Given the description of an element on the screen output the (x, y) to click on. 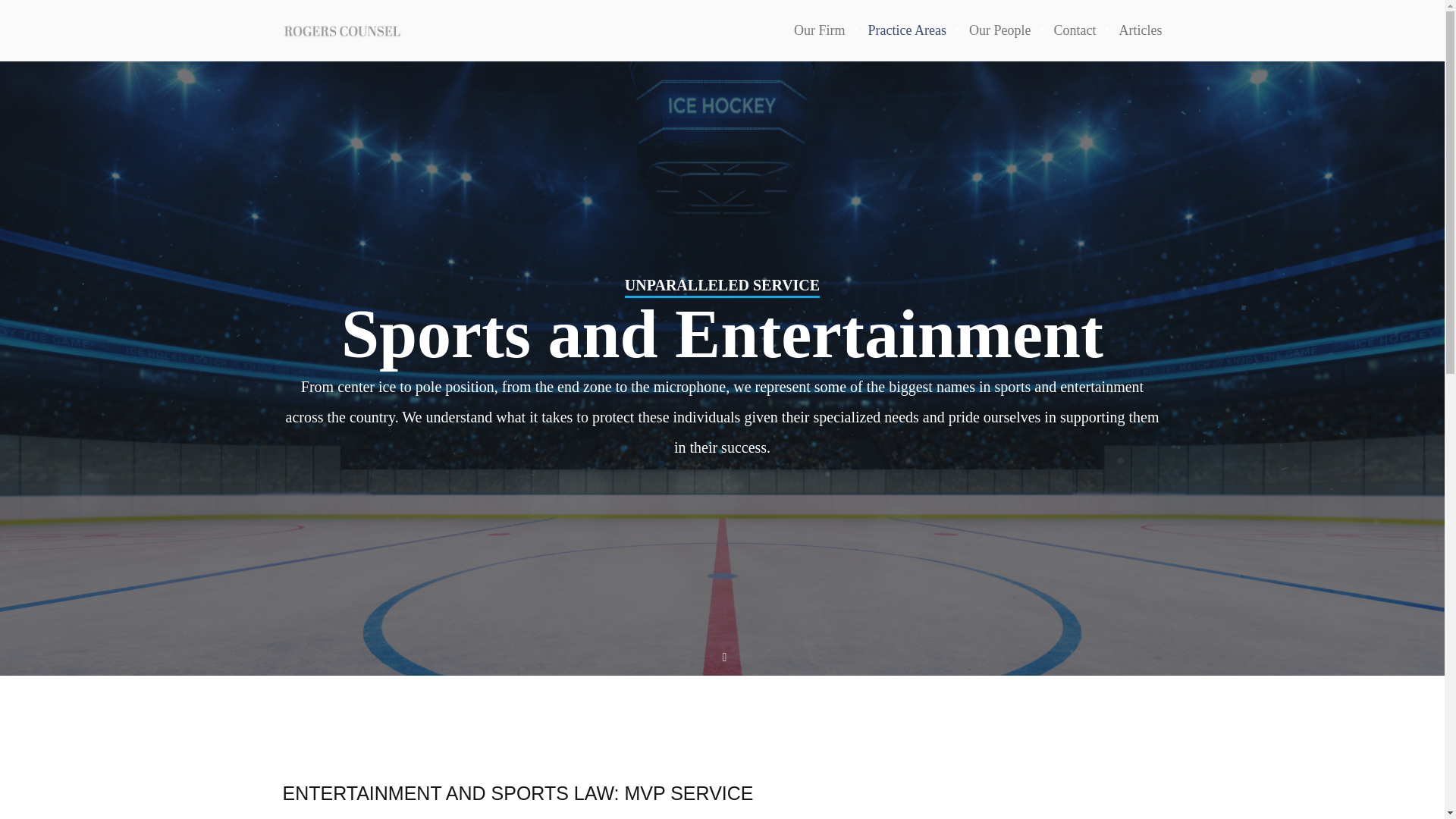
Our People (1000, 30)
Practice Areas (907, 30)
Articles (1134, 30)
Contact (1075, 30)
Our Firm (820, 30)
